Given the description of an element on the screen output the (x, y) to click on. 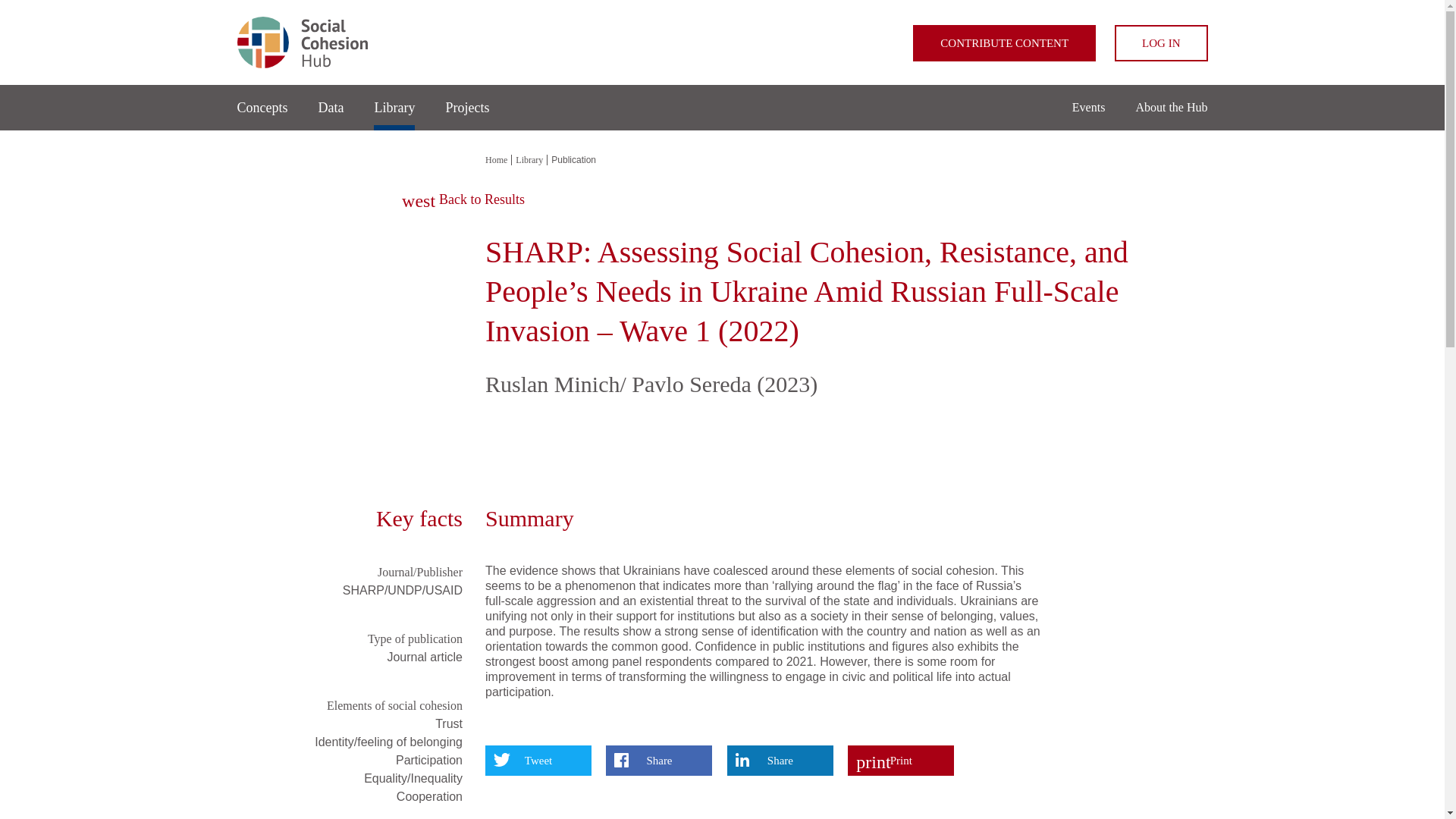
Home (498, 159)
Projects (467, 107)
Library (394, 105)
Print (900, 760)
Share (779, 760)
Share (658, 760)
Tweet (537, 760)
Library (531, 159)
Home (721, 41)
LOG IN (1161, 43)
